Given the description of an element on the screen output the (x, y) to click on. 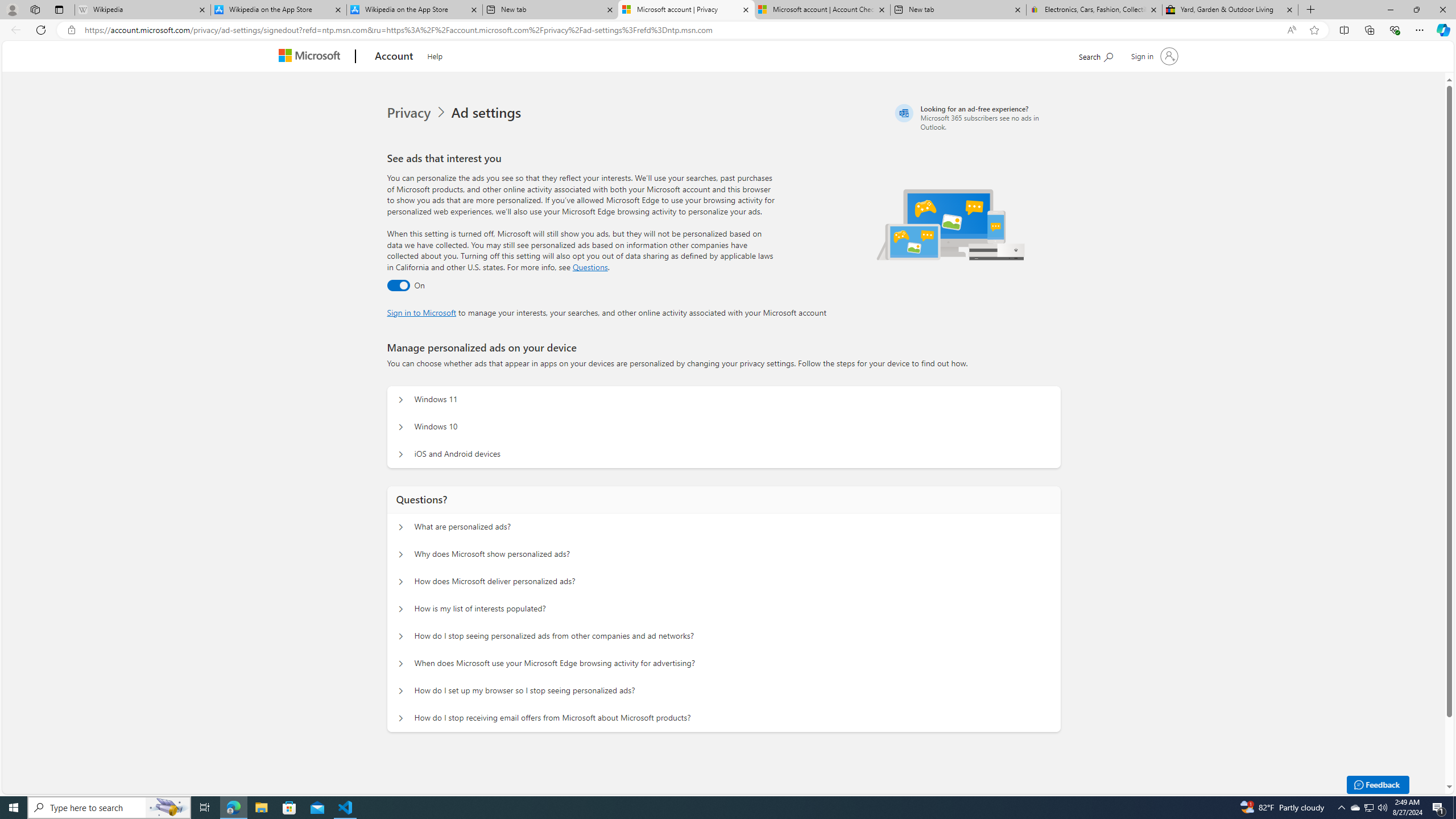
Questions? How does Microsoft deliver personalized ads? (401, 581)
Questions? Why does Microsoft show personalized ads? (401, 554)
Manage personalized ads on your device Windows 10 (401, 427)
